Given the description of an element on the screen output the (x, y) to click on. 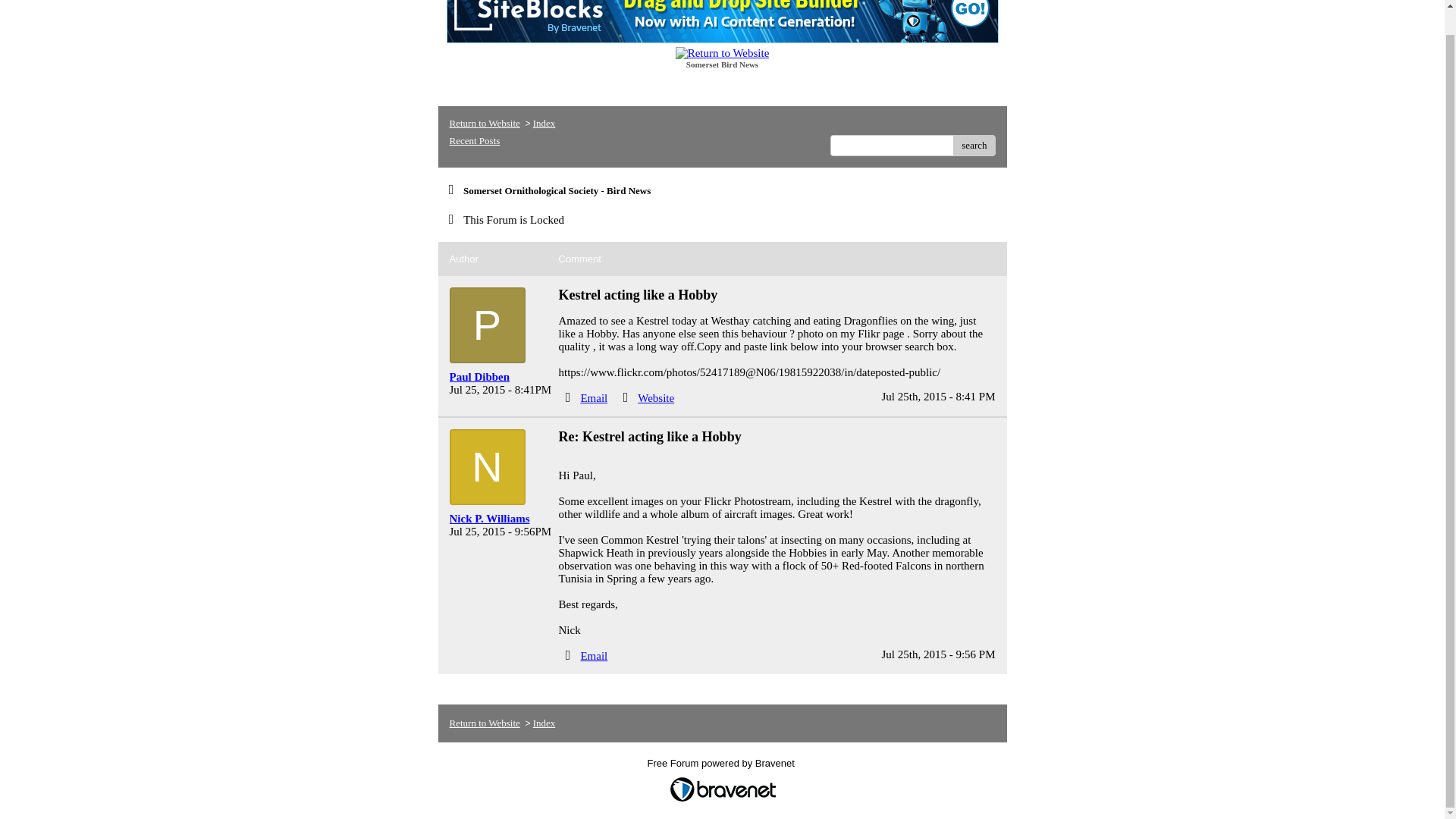
Index (544, 722)
Paul Dibben (497, 377)
Index (544, 122)
Recent Posts (473, 140)
Posting is Disabled (502, 219)
Website (655, 398)
Nick P. Williams (497, 518)
Email (593, 655)
search (973, 145)
Messages from this User (488, 518)
Siteblocks AI SiteBuilder (721, 21)
Messages from this User (478, 377)
Free Forum powered by Bravenet  (722, 766)
Return to Website (483, 722)
Return to Website (483, 122)
